Given the description of an element on the screen output the (x, y) to click on. 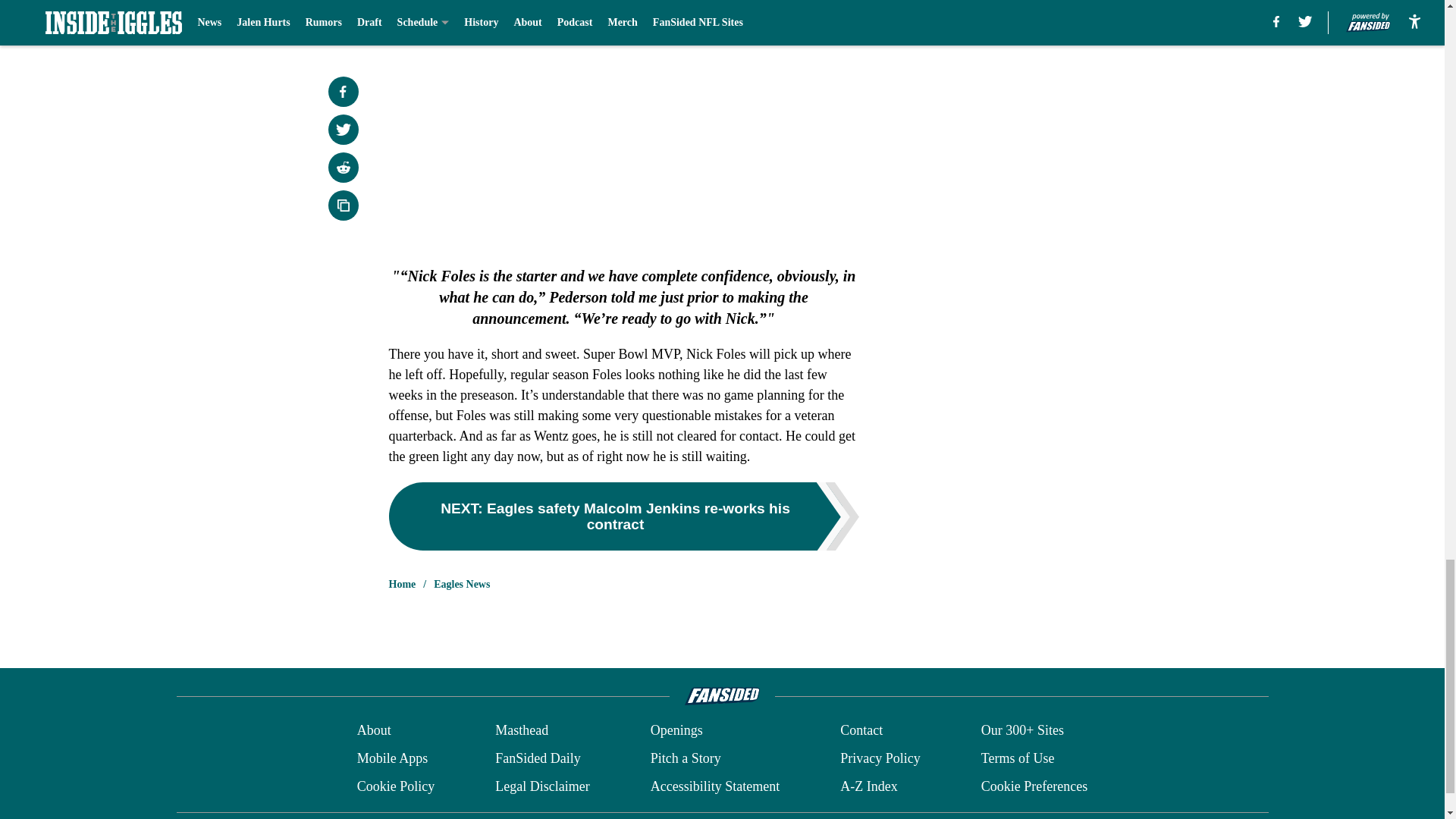
NEXT: Eagles safety Malcolm Jenkins re-works his contract (623, 516)
Home (401, 584)
About (373, 730)
Masthead (521, 730)
Openings (676, 730)
Contact (861, 730)
Eagles News (461, 584)
